Given the description of an element on the screen output the (x, y) to click on. 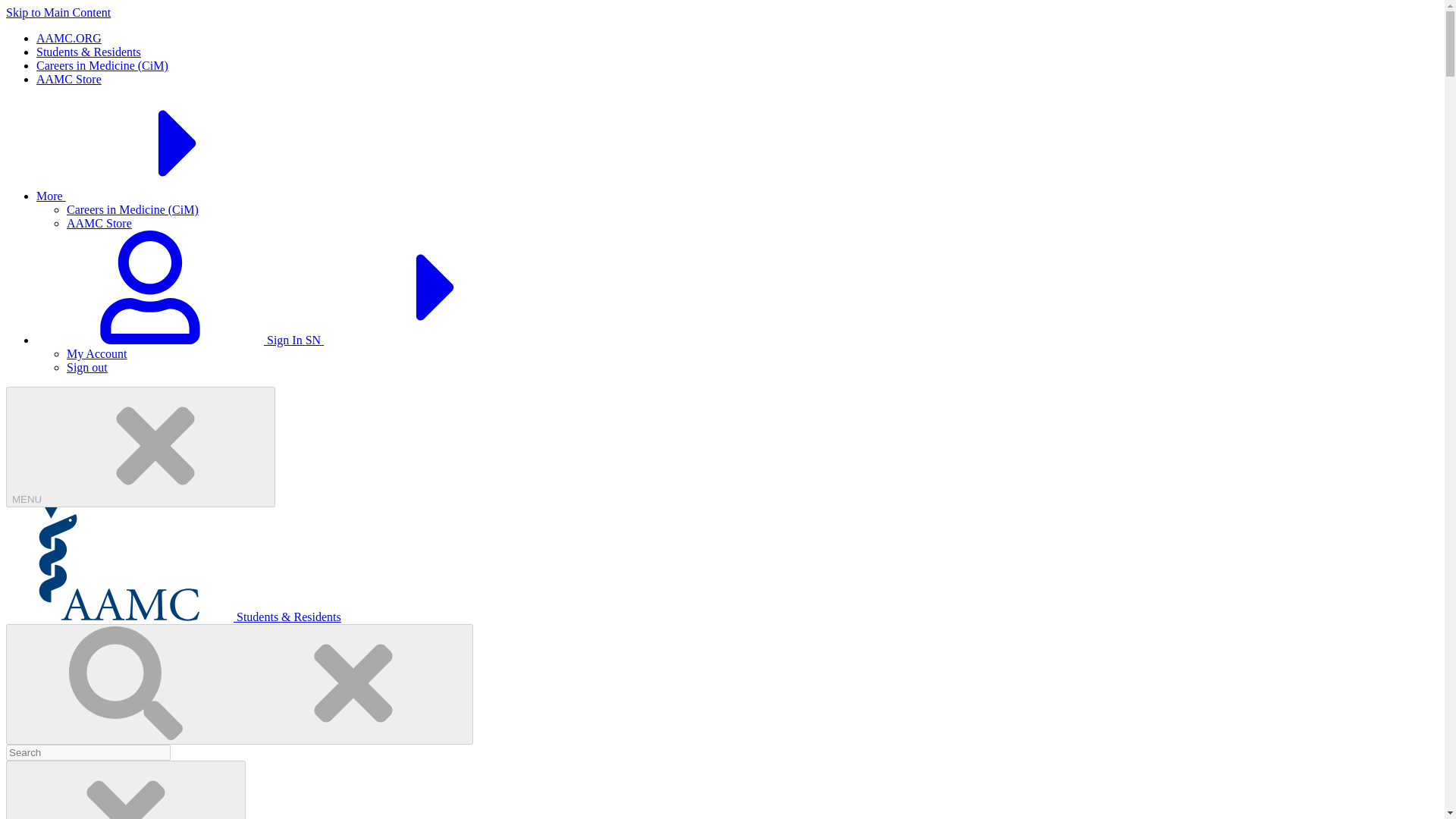
MENU (140, 446)
My Account (97, 353)
More (165, 195)
AAMC Store (99, 223)
Sign out (86, 367)
Skip to Main Content (57, 11)
Sign In SN (293, 339)
AAMC Store (68, 78)
AAMC.ORG (68, 38)
